Given the description of an element on the screen output the (x, y) to click on. 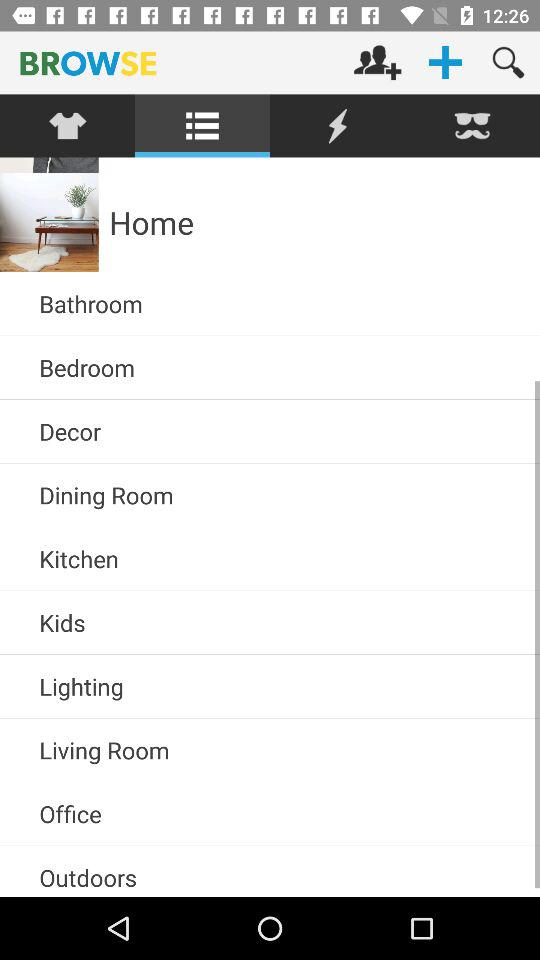
accelerated mobile page symbol (337, 125)
